Given the description of an element on the screen output the (x, y) to click on. 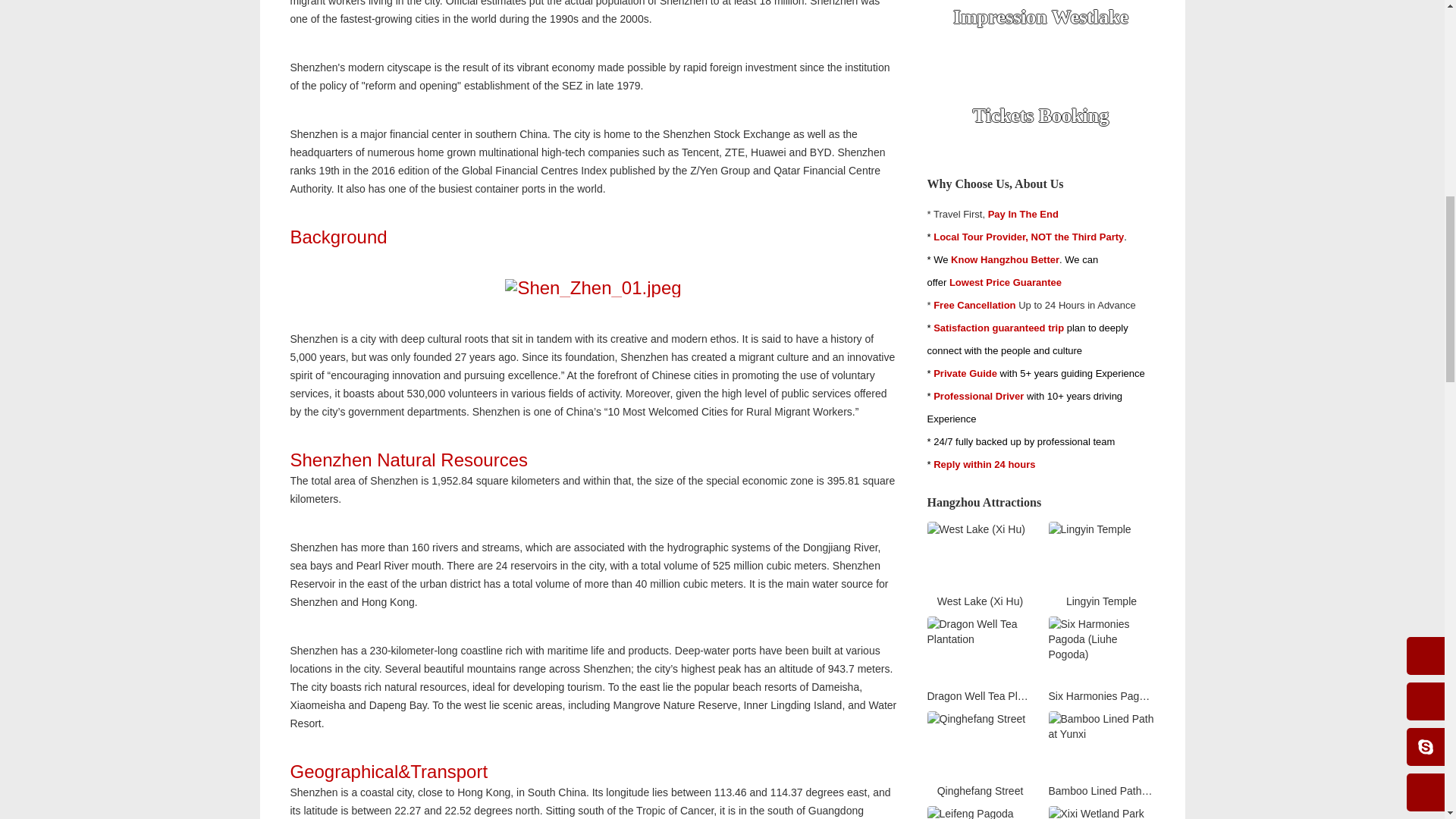
Dragon Well Tea Plantation (979, 659)
Night Show of Romance of the Song Dynasty (1040, 116)
Lingyin Temple (1101, 555)
Impression Westlake Water Show Ticket Booking (1040, 29)
Lingyin Temple (1101, 565)
